Given the description of an element on the screen output the (x, y) to click on. 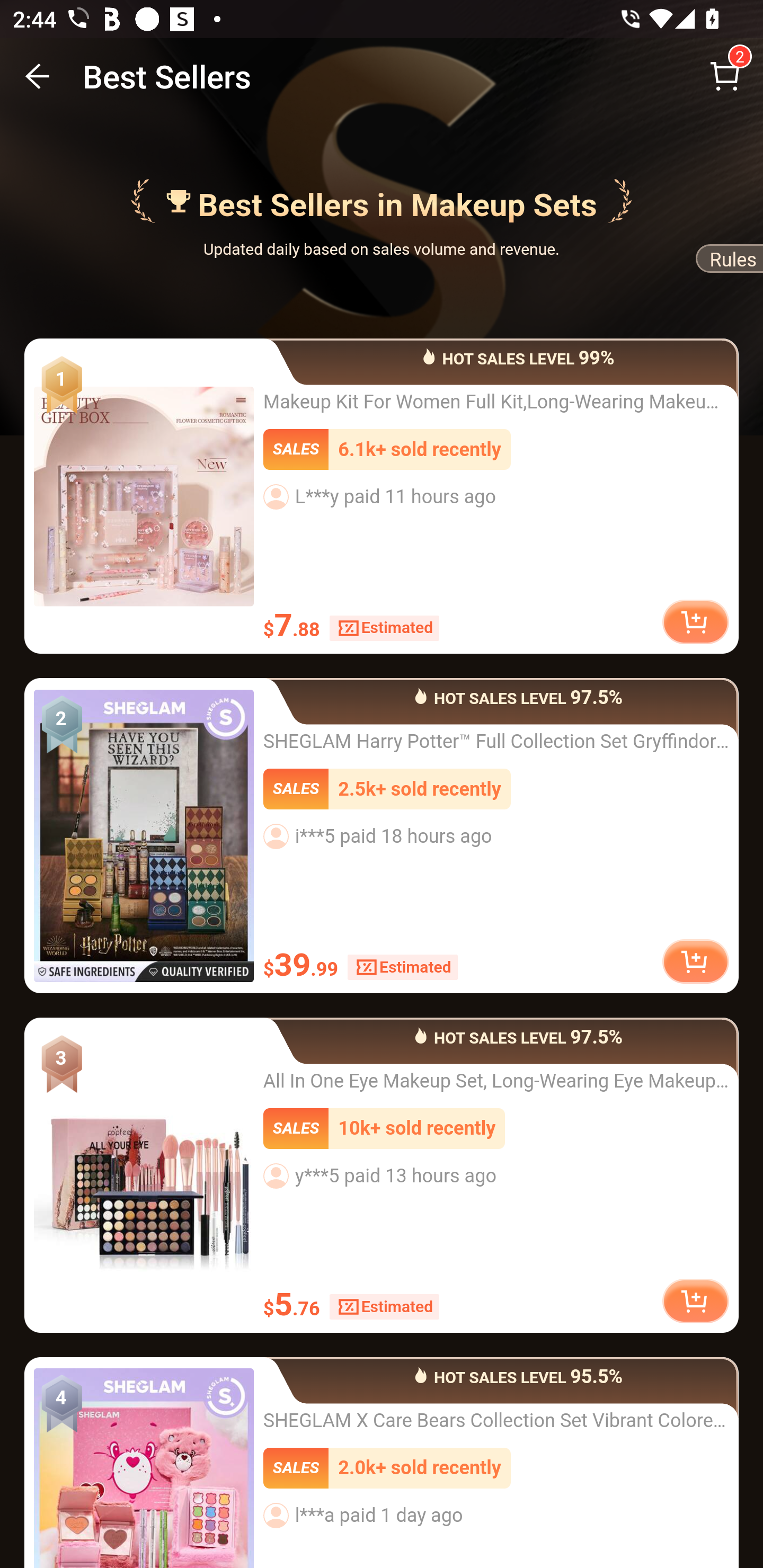
BACK (38, 75)
Cart 2 (724, 75)
Rules (727, 261)
add to cart (695, 621)
add to cart (695, 960)
add to cart (695, 1300)
